Given the description of an element on the screen output the (x, y) to click on. 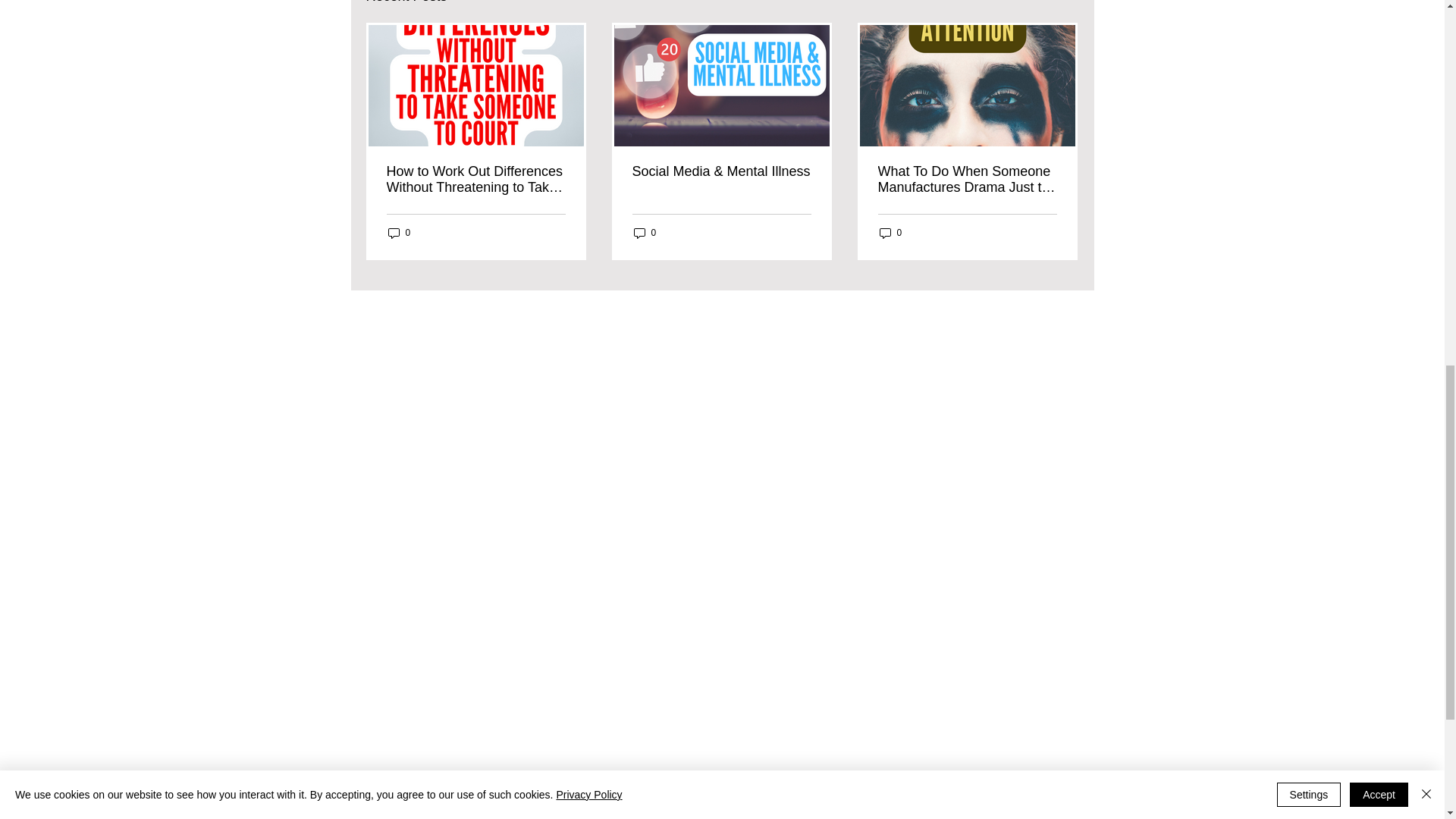
0 (399, 233)
0 (644, 233)
See All (1061, 3)
